Given the description of an element on the screen output the (x, y) to click on. 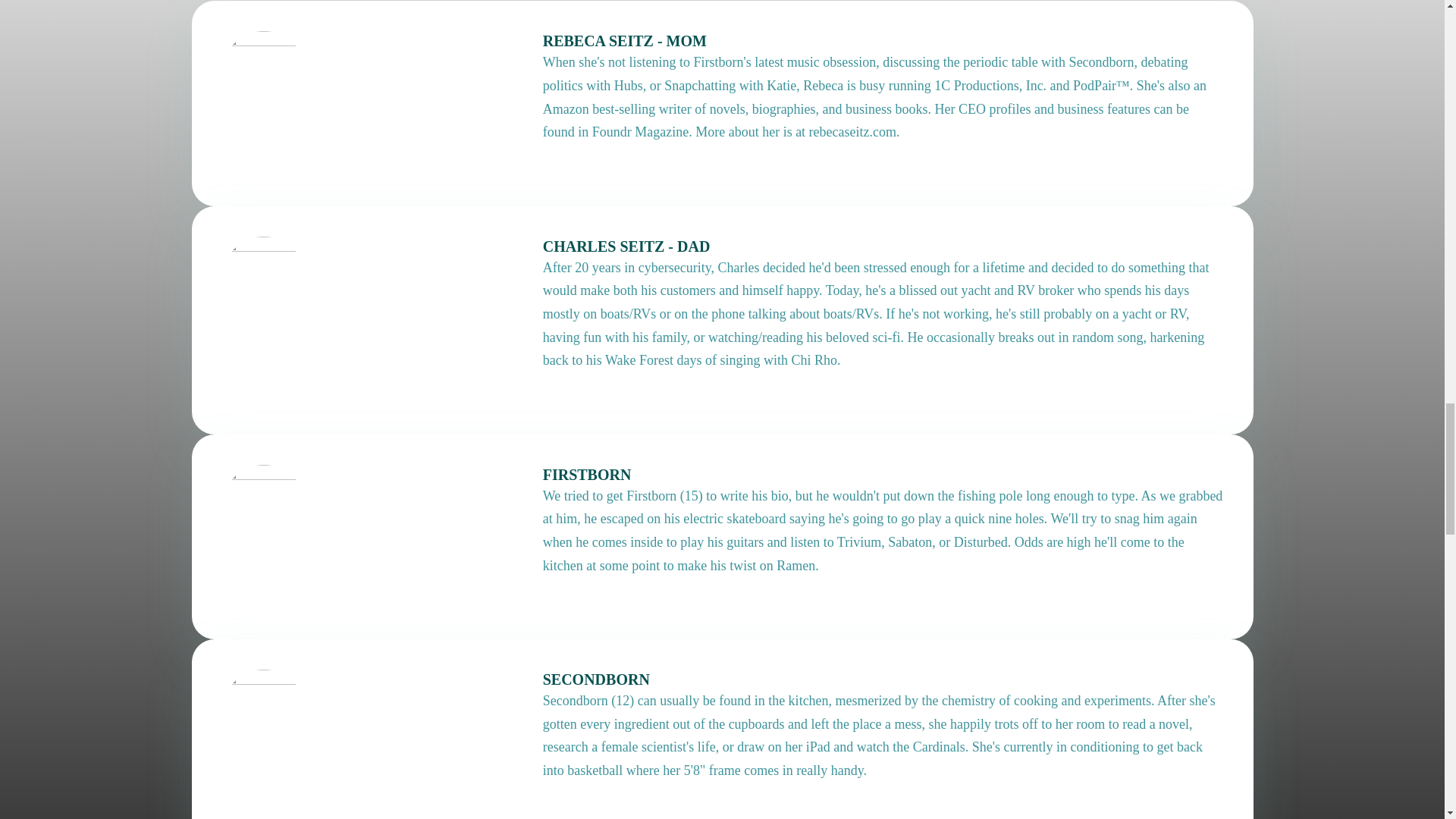
047DE7E9-D03D-4105-BA79-3B02DFBEFE08 (262, 506)
0CE82849-F4FD-4985-85CA-B656574F561C (262, 278)
F5D900EB-F7B0-43FC-A5CF-7747A2283E1B (262, 710)
1072CB2C-1F9E-4B9C-9359-5F1DF9BADE83 (262, 72)
